Given the description of an element on the screen output the (x, y) to click on. 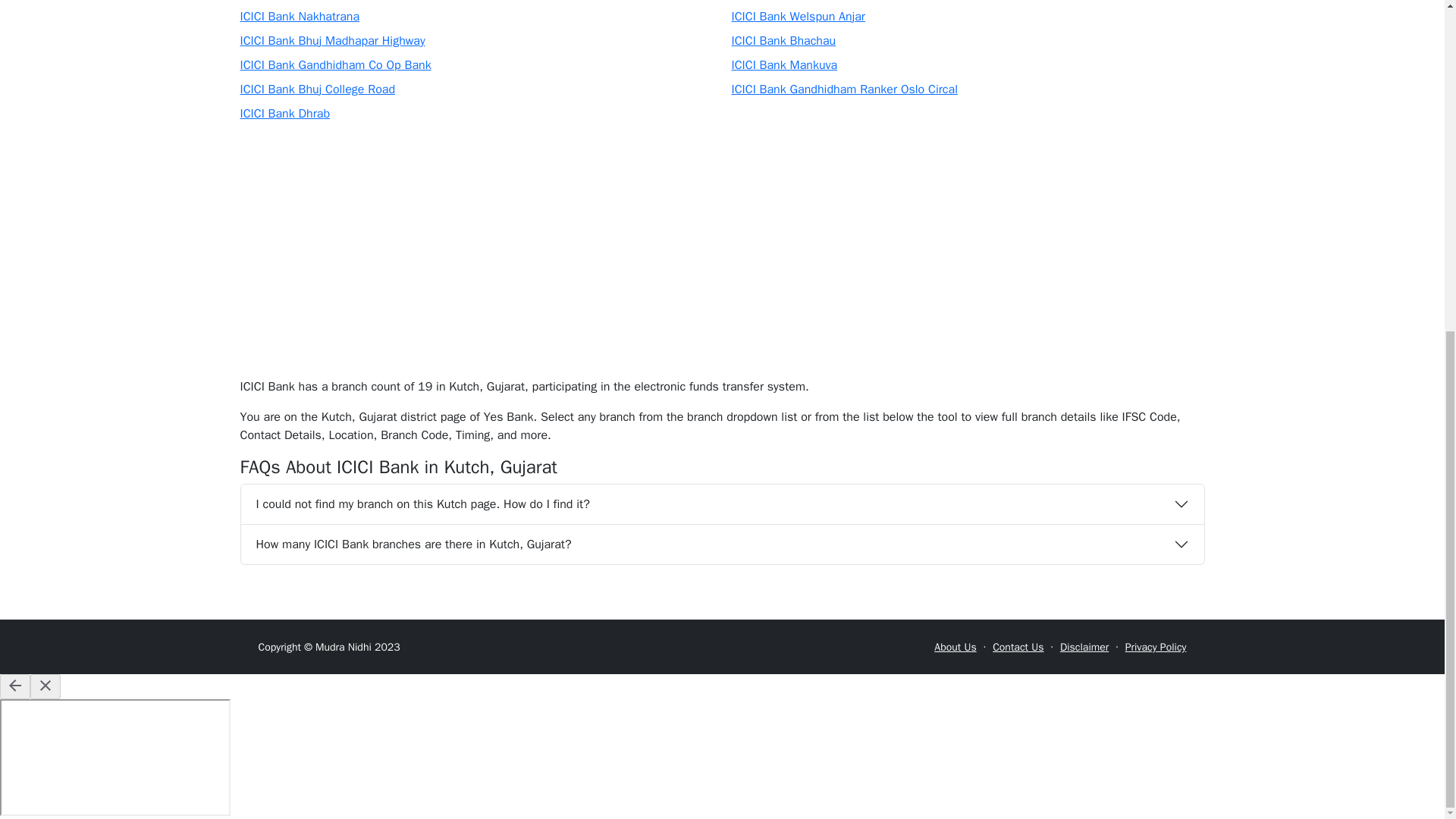
ICICI Bank Bhuj College Road (317, 89)
About Us (954, 646)
Contact Us (1017, 646)
How many ICICI Bank branches are there in Kutch, Gujarat? (722, 544)
ICICI Bank Dhrab (285, 113)
ICICI Bank Gandhidham Co Op Bank (335, 64)
ICICI Bank Nakhatrana (299, 16)
ICICI Bank Mankuva (783, 64)
ICICI Bank Bhachau (782, 40)
